Given the description of an element on the screen output the (x, y) to click on. 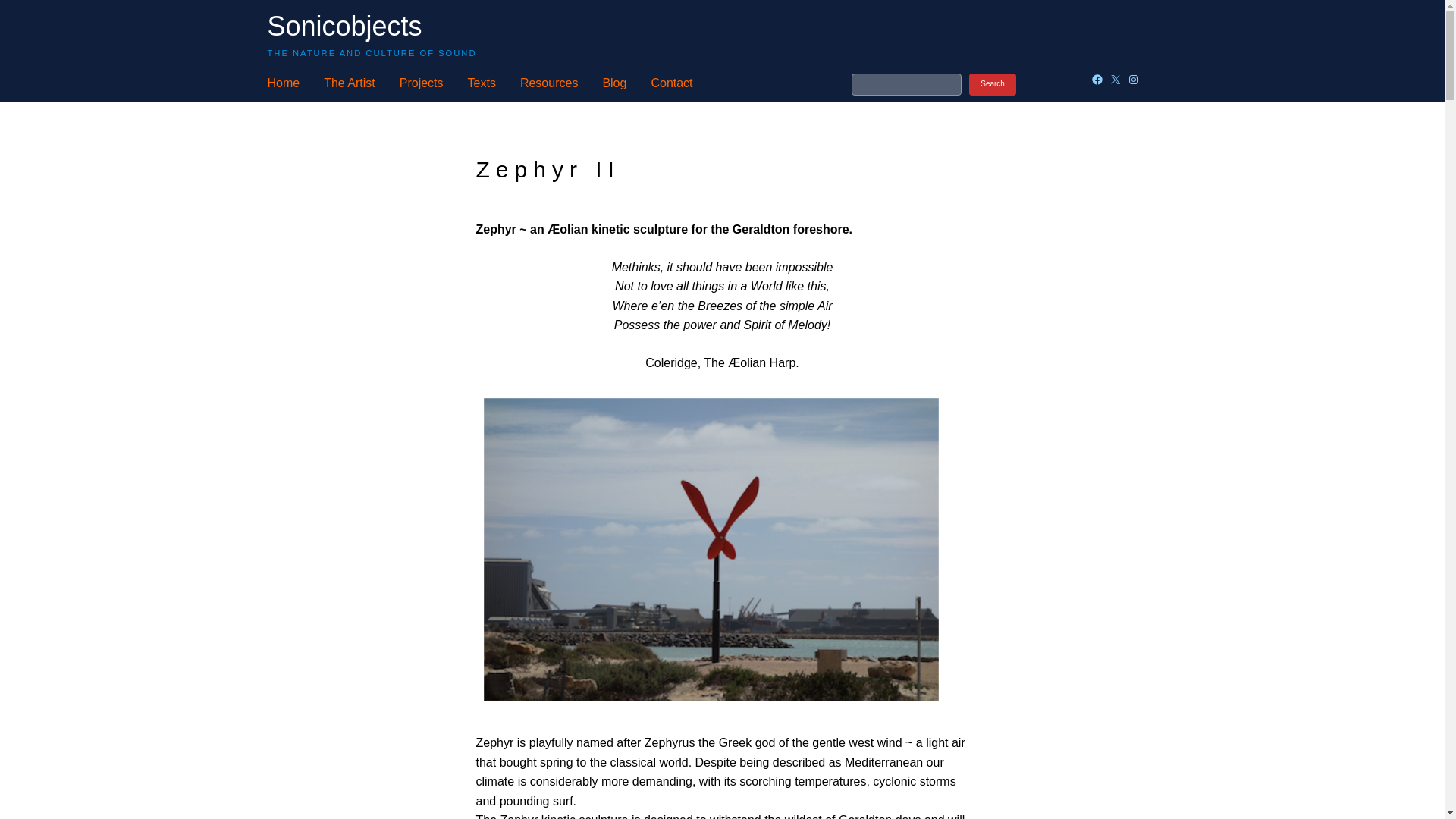
Texts (481, 83)
The Artist (349, 83)
Facebook (1096, 79)
Blog (614, 83)
Contact (671, 83)
Instagram (1133, 79)
Projects (421, 83)
Search (992, 84)
Sonicobjects (344, 25)
Resources (548, 83)
